Given the description of an element on the screen output the (x, y) to click on. 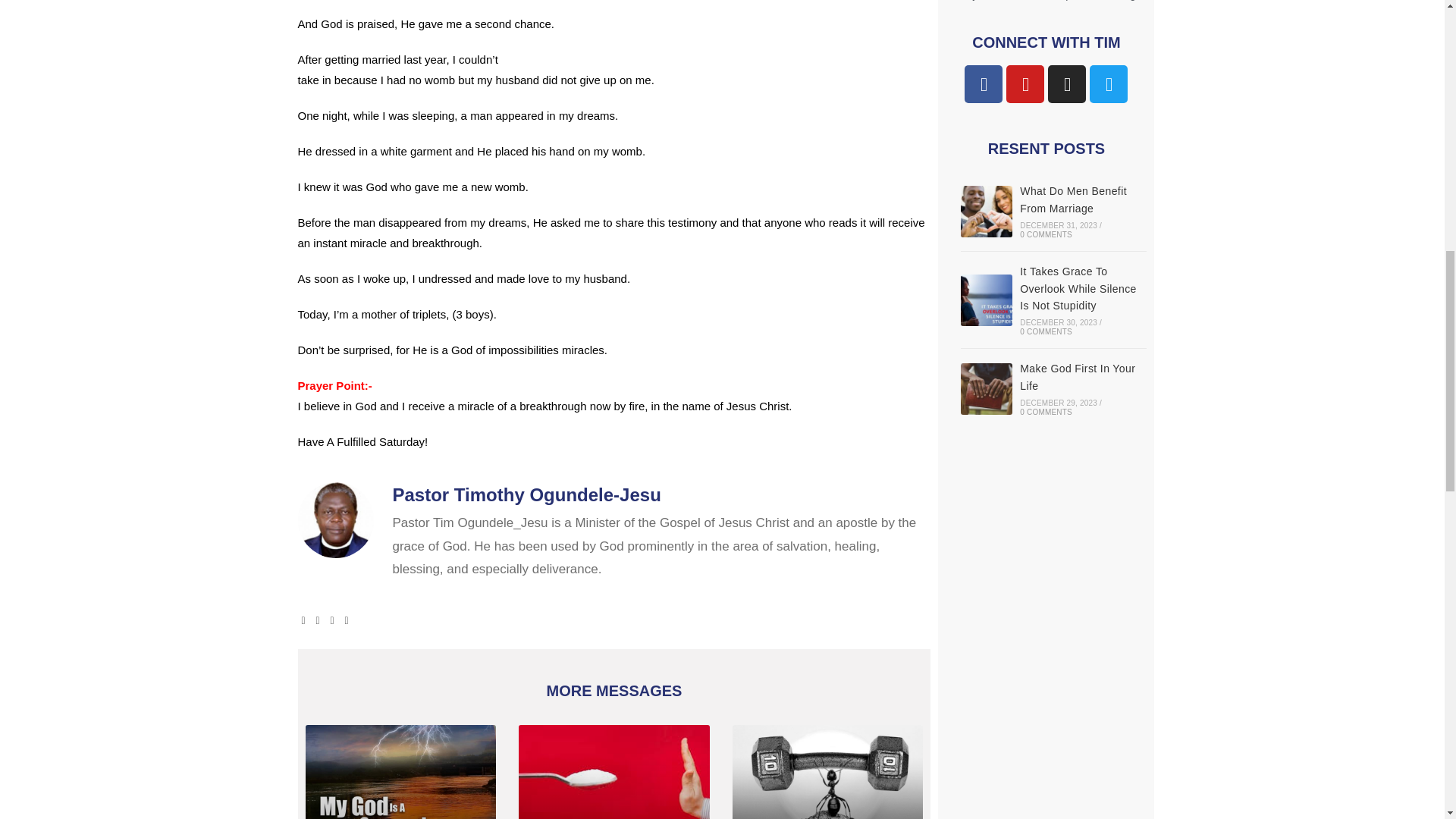
It Takes Grace To Overlook While Silence Is Not Stupidity (985, 299)
Make God First In Your Life (985, 388)
What Do Men Benefit From Marriage (985, 211)
Pastor Timothy Ogundele-Jesu (662, 494)
